Given the description of an element on the screen output the (x, y) to click on. 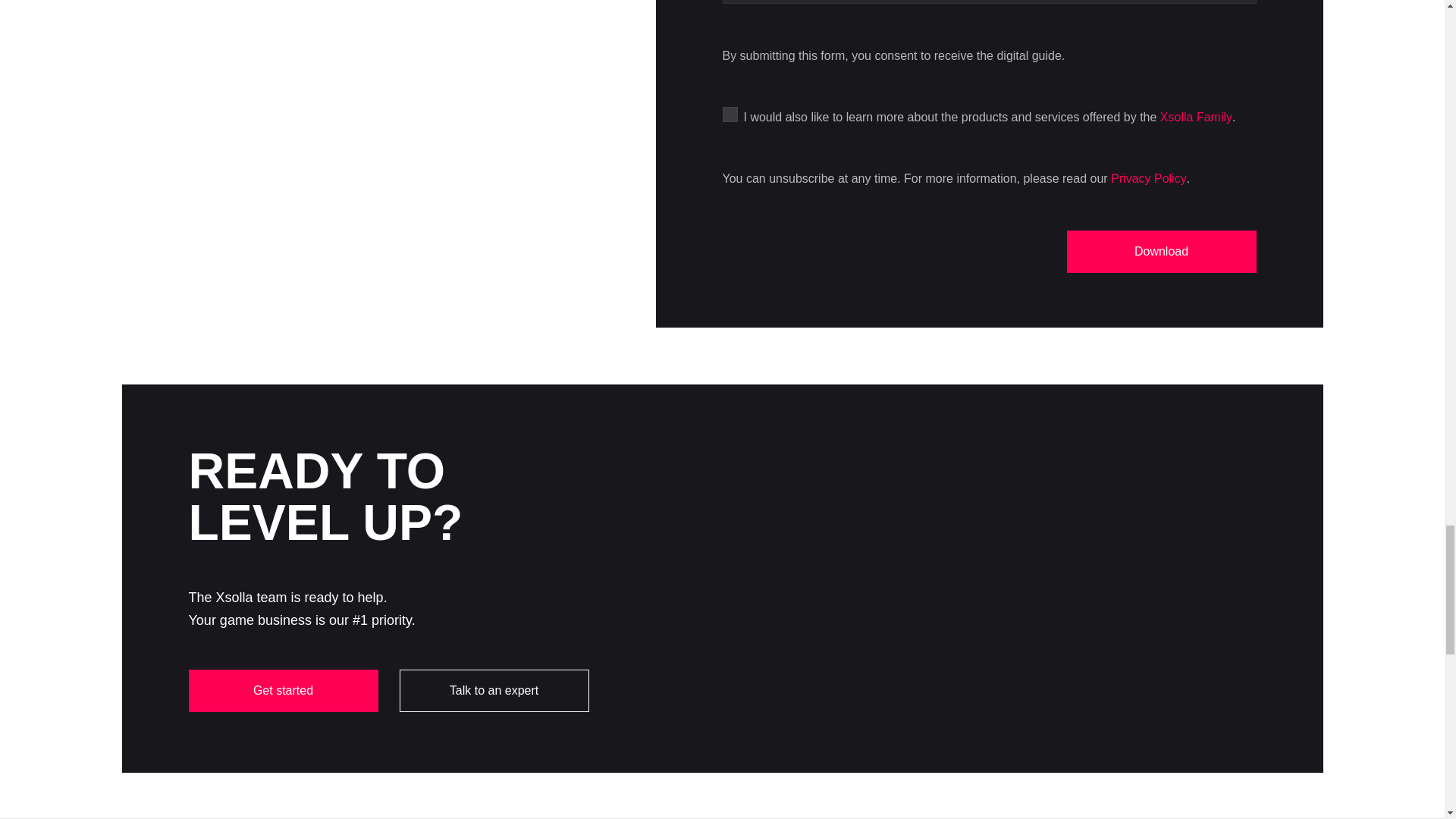
Download (1160, 251)
Get started (282, 690)
Privacy Policy (1148, 178)
Xsolla Family (1195, 116)
